Given the description of an element on the screen output the (x, y) to click on. 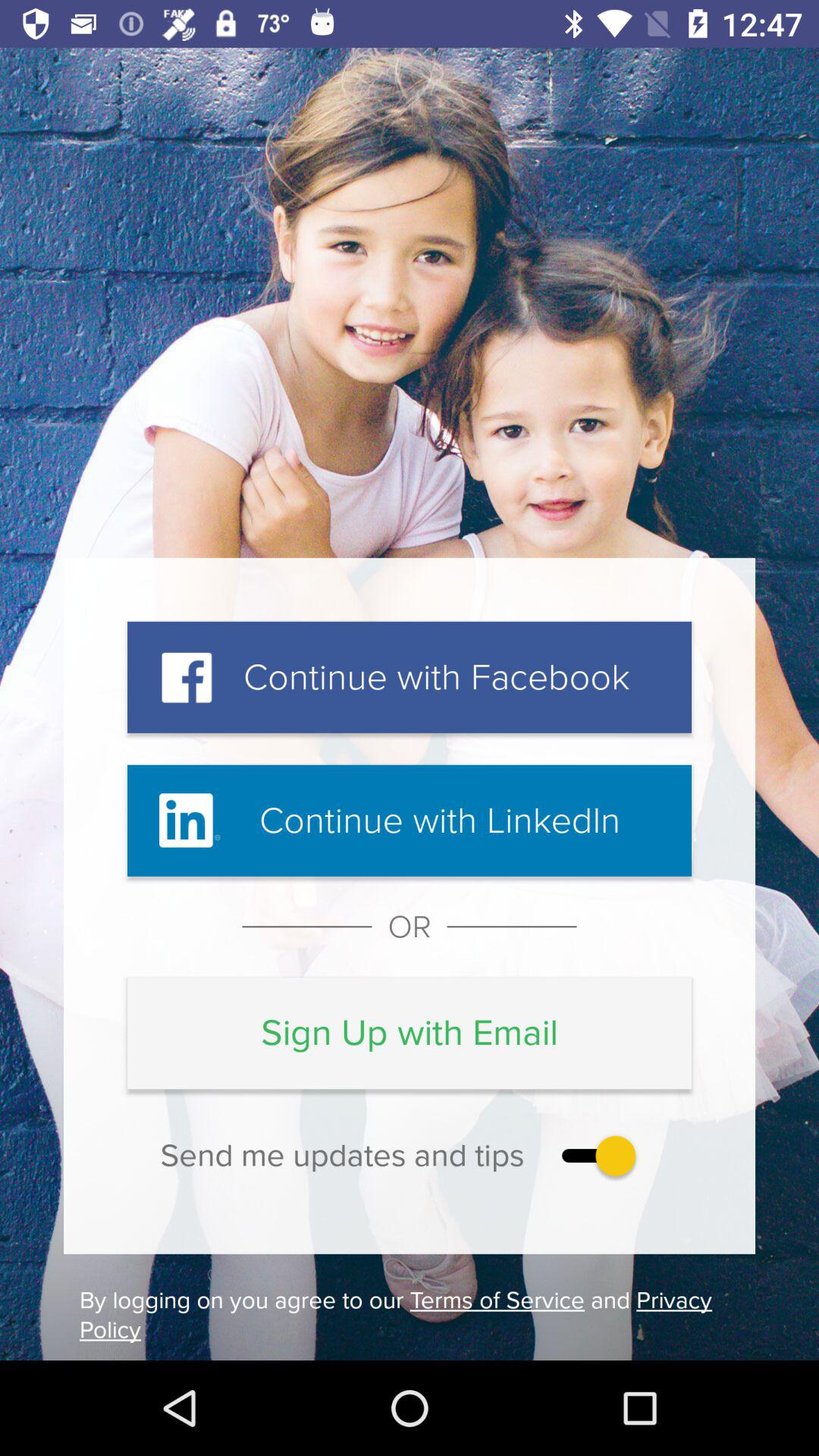
click for updates (595, 1155)
